Given the description of an element on the screen output the (x, y) to click on. 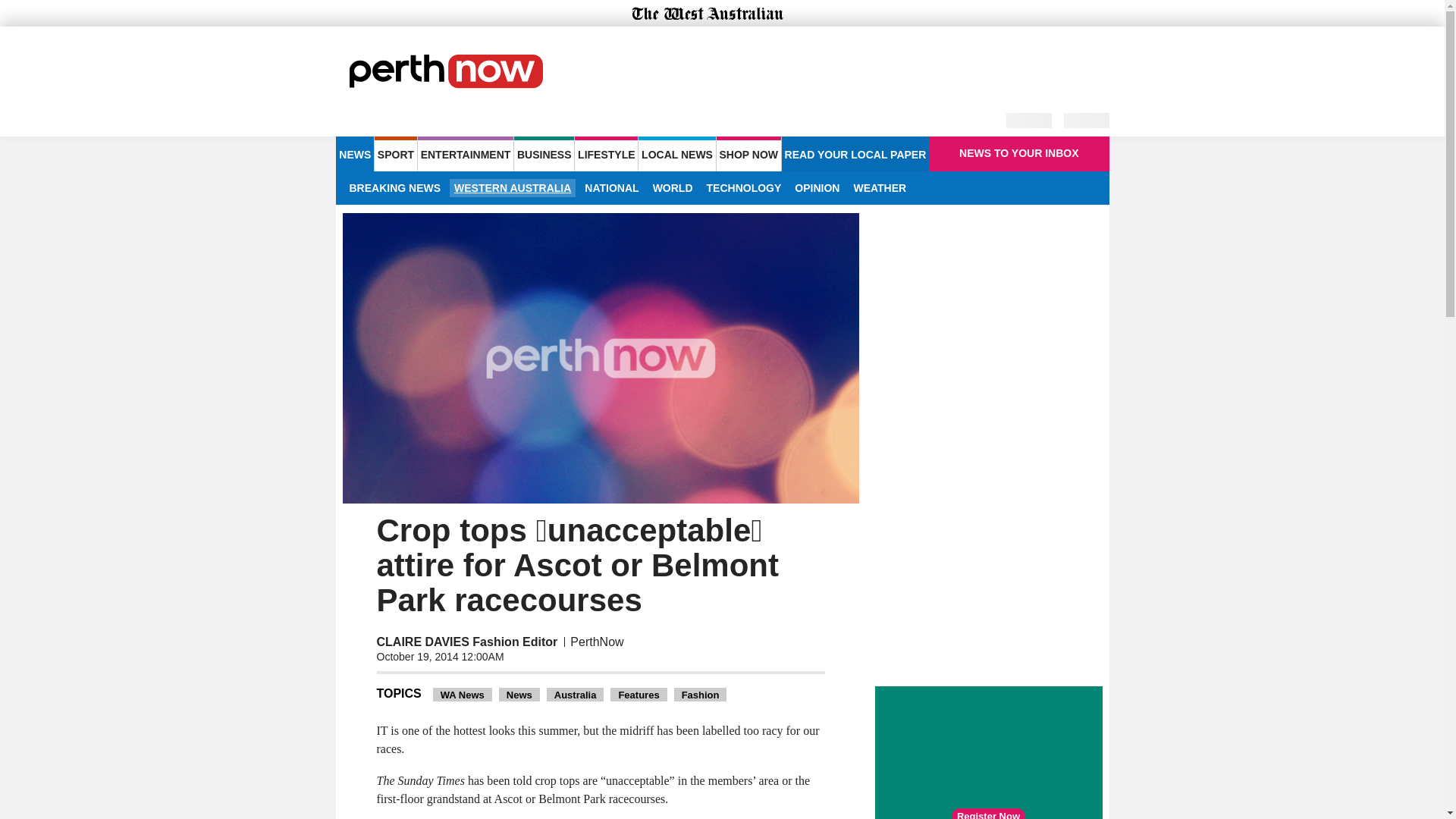
SPORT (395, 153)
ENTERTAINMENT (465, 153)
BUSINESS (543, 153)
NEWS (354, 153)
